Given the description of an element on the screen output the (x, y) to click on. 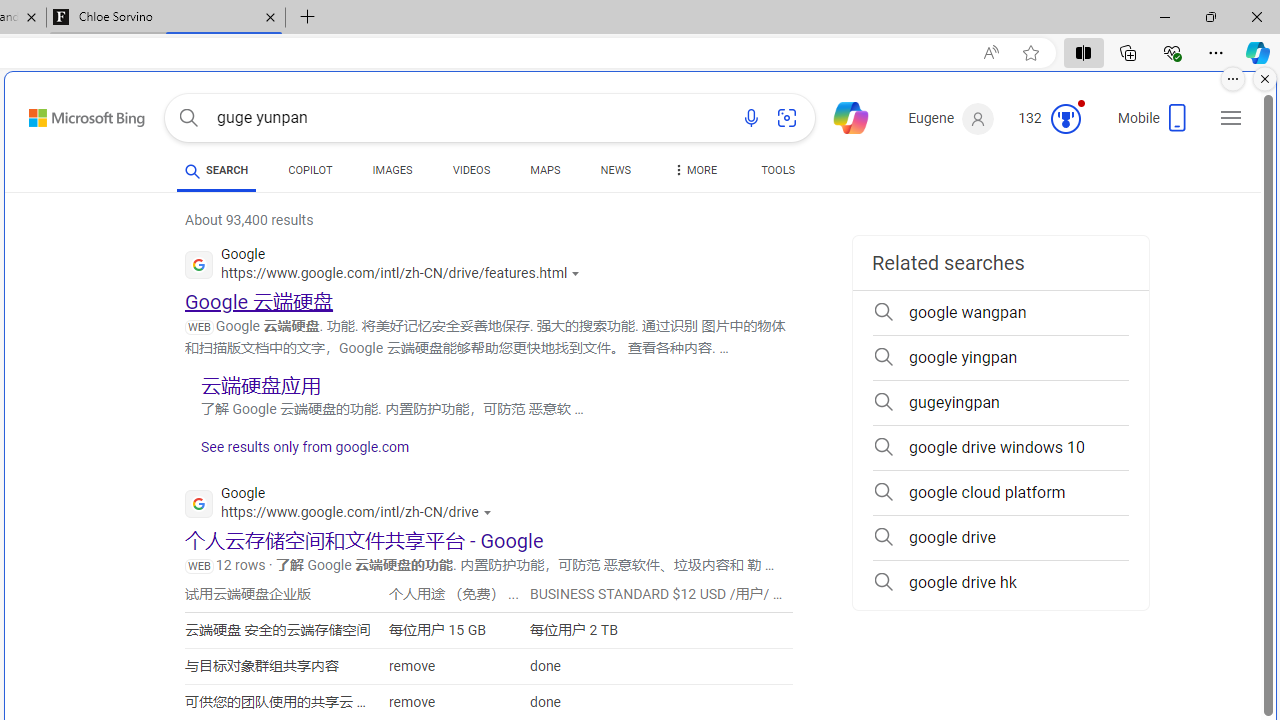
New Tab (308, 17)
NEWS (614, 170)
Chat (842, 116)
Settings and quick links (1231, 117)
Search button (188, 117)
Restore (1210, 16)
VIDEOS (471, 170)
Minimize (1164, 16)
See results only from google.com (297, 452)
Chat (842, 116)
NEWS (614, 173)
More options. (1233, 79)
Settings and more (Alt+F) (1215, 52)
